Given the description of an element on the screen output the (x, y) to click on. 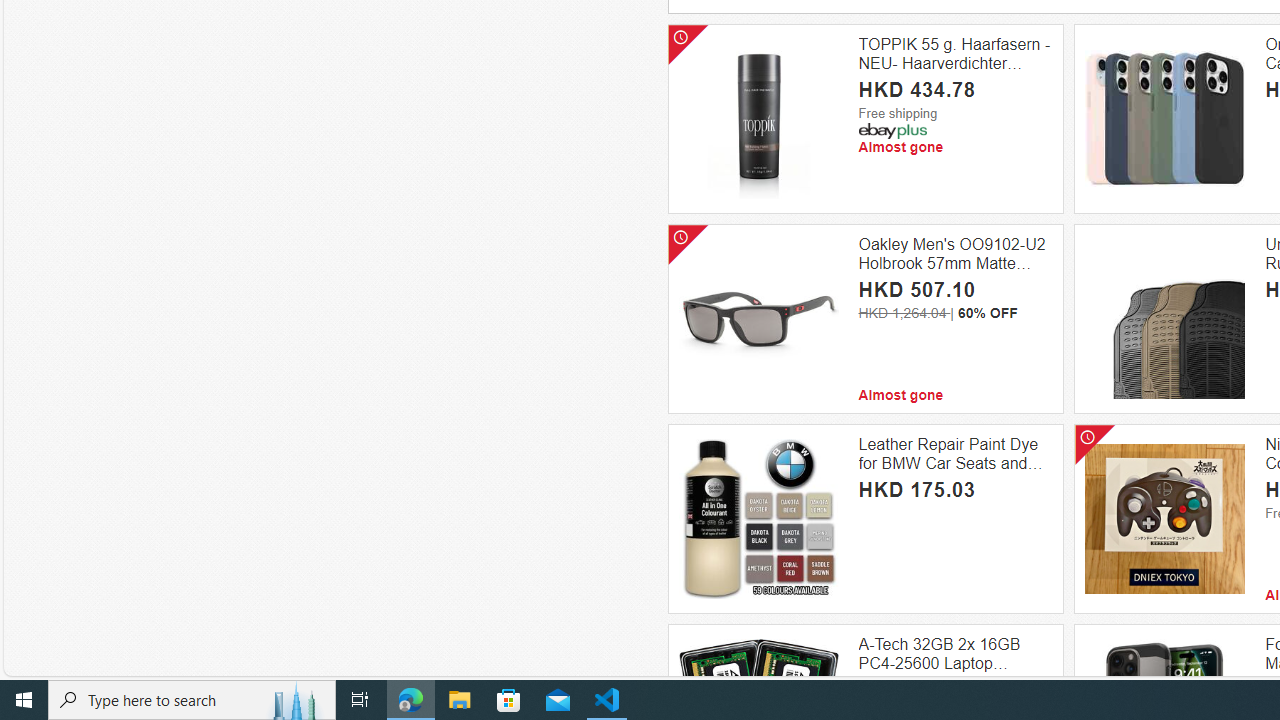
Oakley Men's OO9102-U2 Holbrook 57mm Matte Black Sunglasses (955, 254)
